Given the description of an element on the screen output the (x, y) to click on. 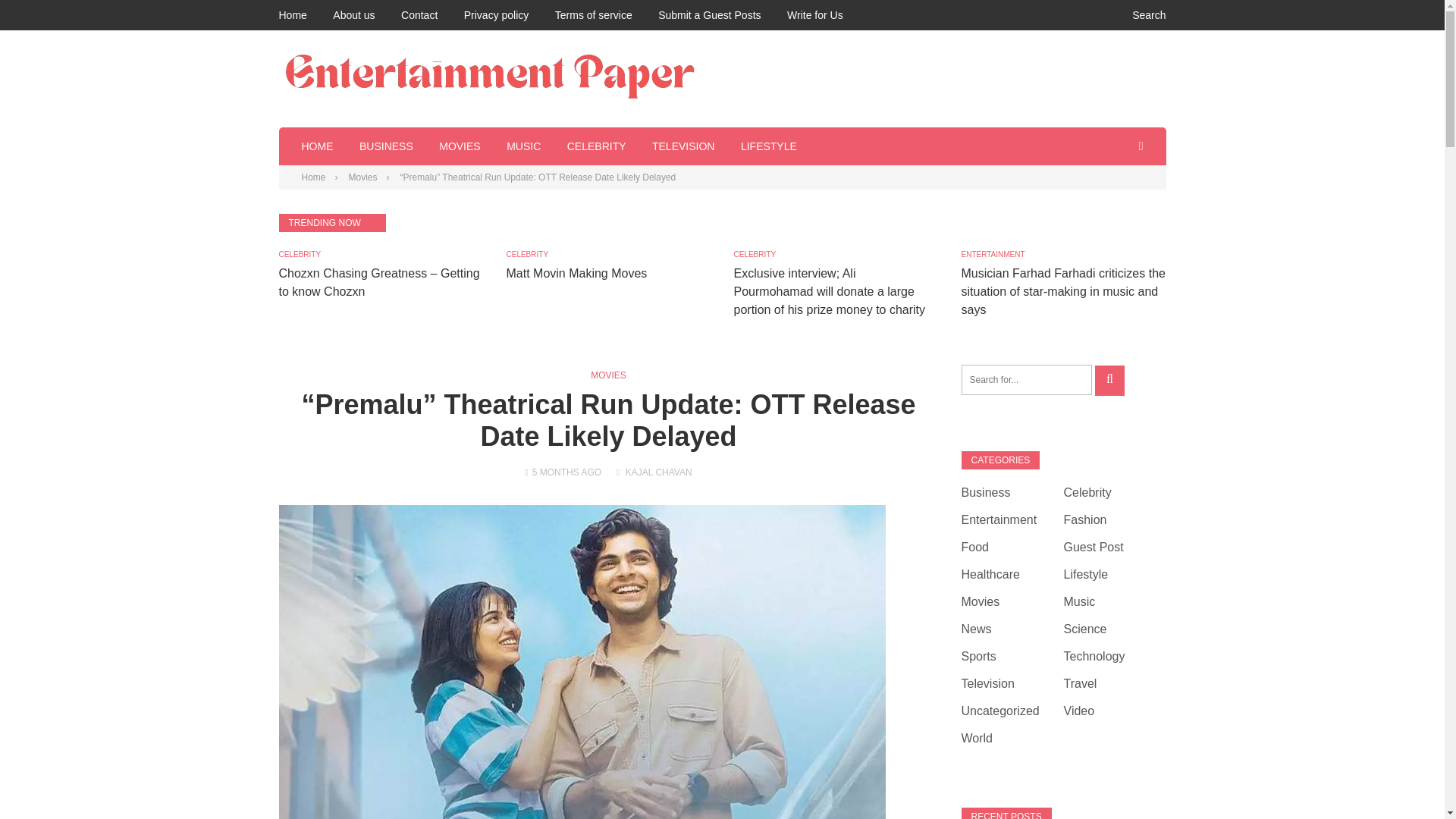
Privacy policy (496, 15)
Submit a Guest Posts (709, 15)
ENTERTAINMENT (992, 254)
CELEBRITY (527, 254)
Home (293, 15)
Write for Us (815, 15)
TELEVISION (683, 146)
BUSINESS (386, 146)
Contact (419, 15)
MUSIC (523, 146)
Matt Movin Making Moves (576, 273)
Home (313, 176)
LIFESTYLE (768, 146)
